Given the description of an element on the screen output the (x, y) to click on. 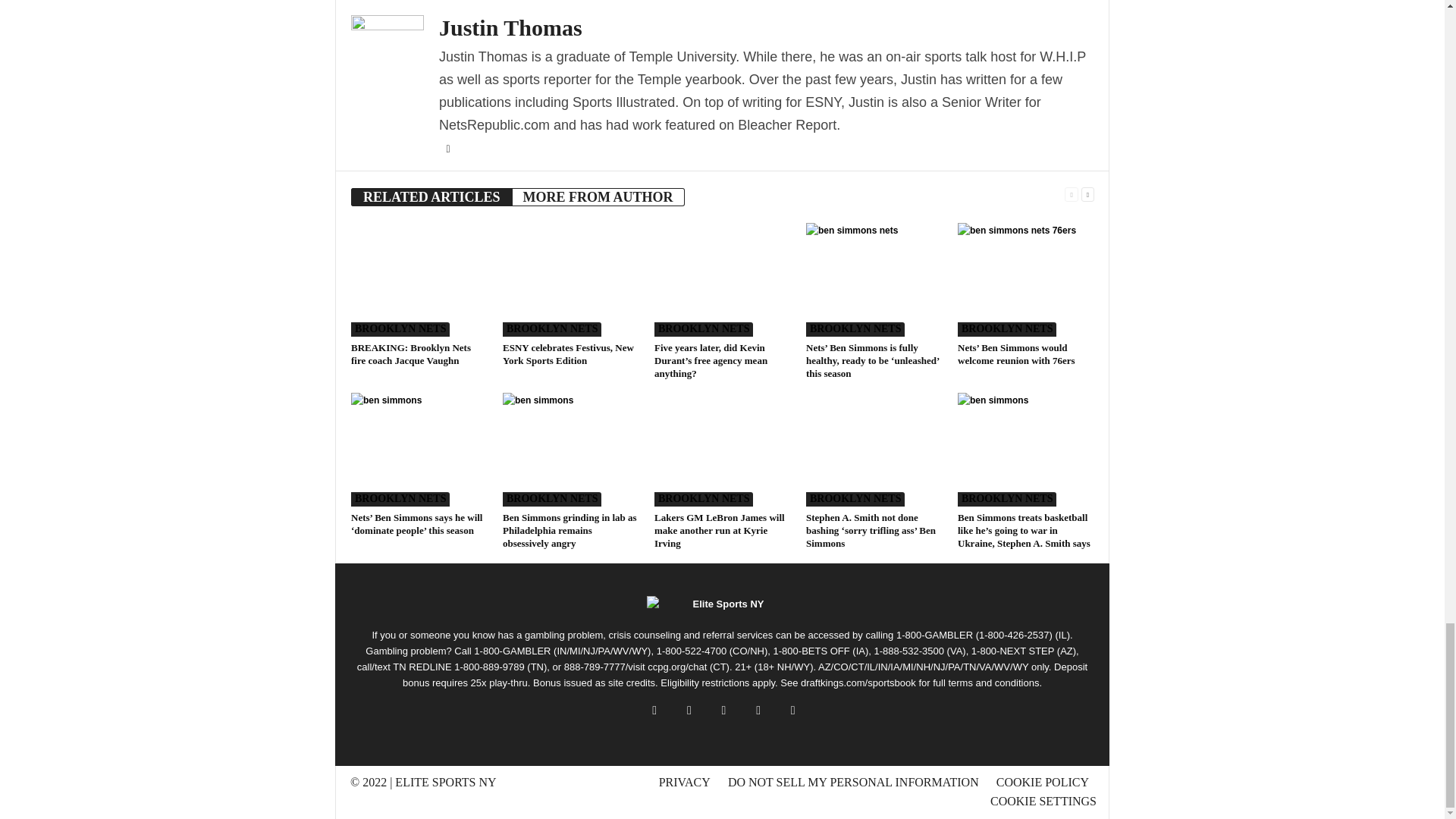
Twitter (448, 149)
ESNY celebrates Festivus, New York Sports Edition (570, 279)
BREAKING: Brooklyn Nets fire coach Jacque Vaughn (410, 354)
BREAKING: Brooklyn Nets fire coach Jacque Vaughn (418, 279)
